Given the description of an element on the screen output the (x, y) to click on. 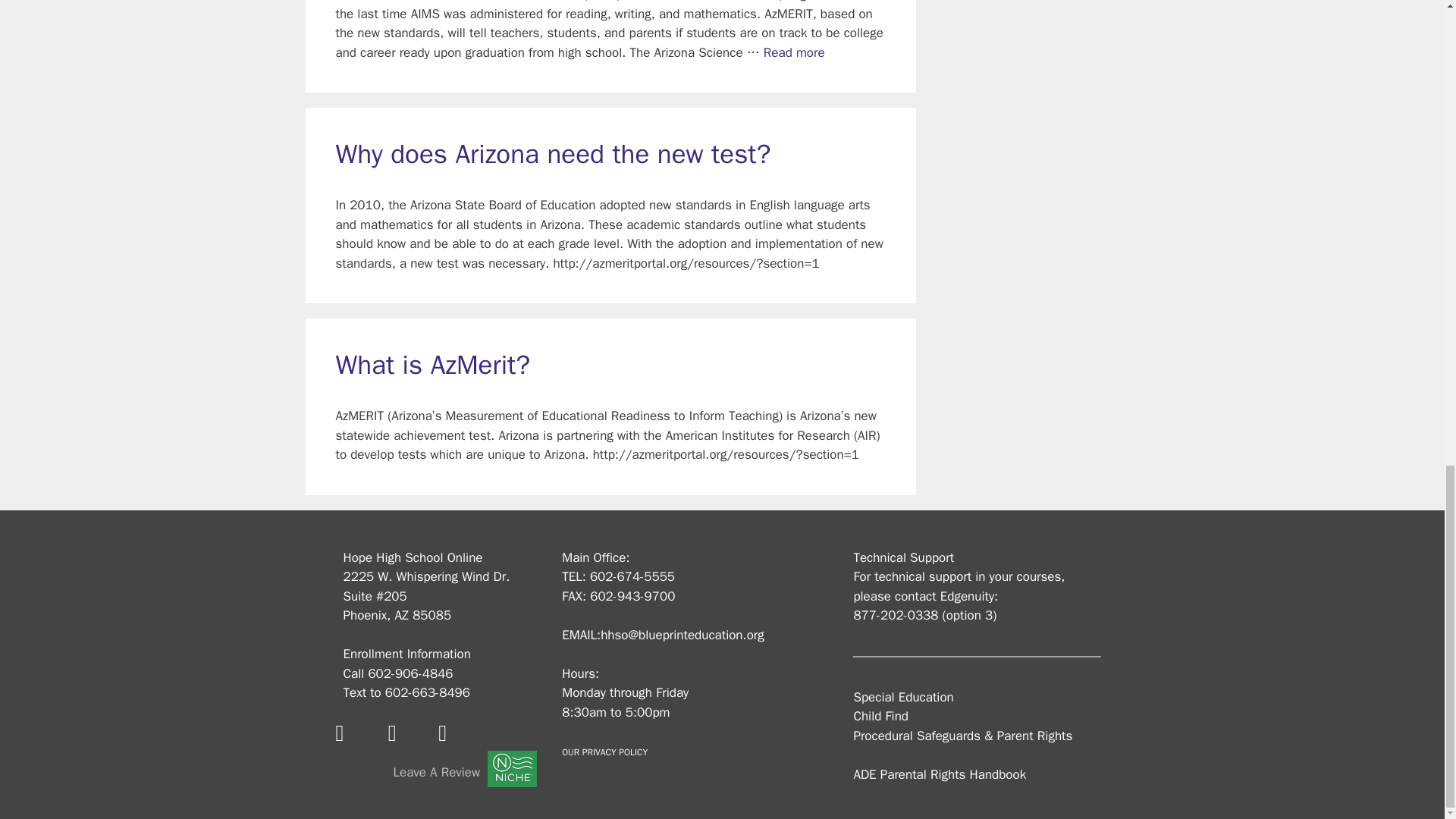
Scroll back to top (1406, 452)
How is AzMerit different from the AIMS test? (793, 52)
niche-logo-crop (512, 769)
